Given the description of an element on the screen output the (x, y) to click on. 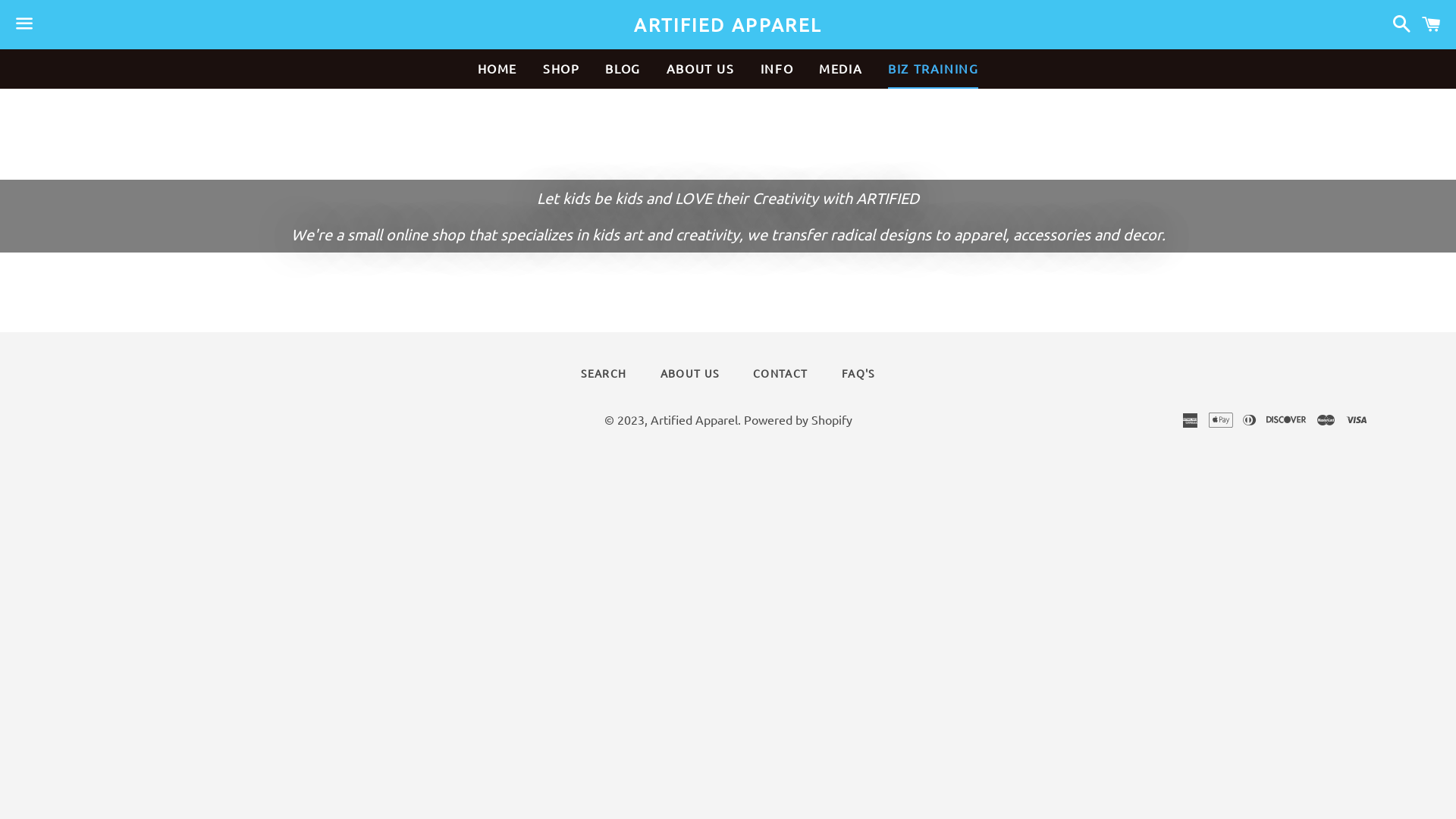
Artified Apparel Element type: text (693, 418)
HOME Element type: text (497, 68)
FAQ'S Element type: text (858, 373)
BLOG Element type: text (622, 68)
ARTIFIED APPAREL Element type: text (727, 24)
INFO Element type: text (776, 68)
Cart Element type: text (1431, 24)
SHOP Element type: text (560, 68)
Powered by Shopify Element type: text (797, 418)
BIZ TRAINING Element type: text (932, 68)
ABOUT US Element type: text (689, 373)
MEDIA Element type: text (840, 68)
Search Element type: text (1397, 24)
ABOUT US Element type: text (700, 68)
CONTACT Element type: text (780, 373)
Menu Element type: text (24, 24)
SEARCH Element type: text (603, 373)
